Given the description of an element on the screen output the (x, y) to click on. 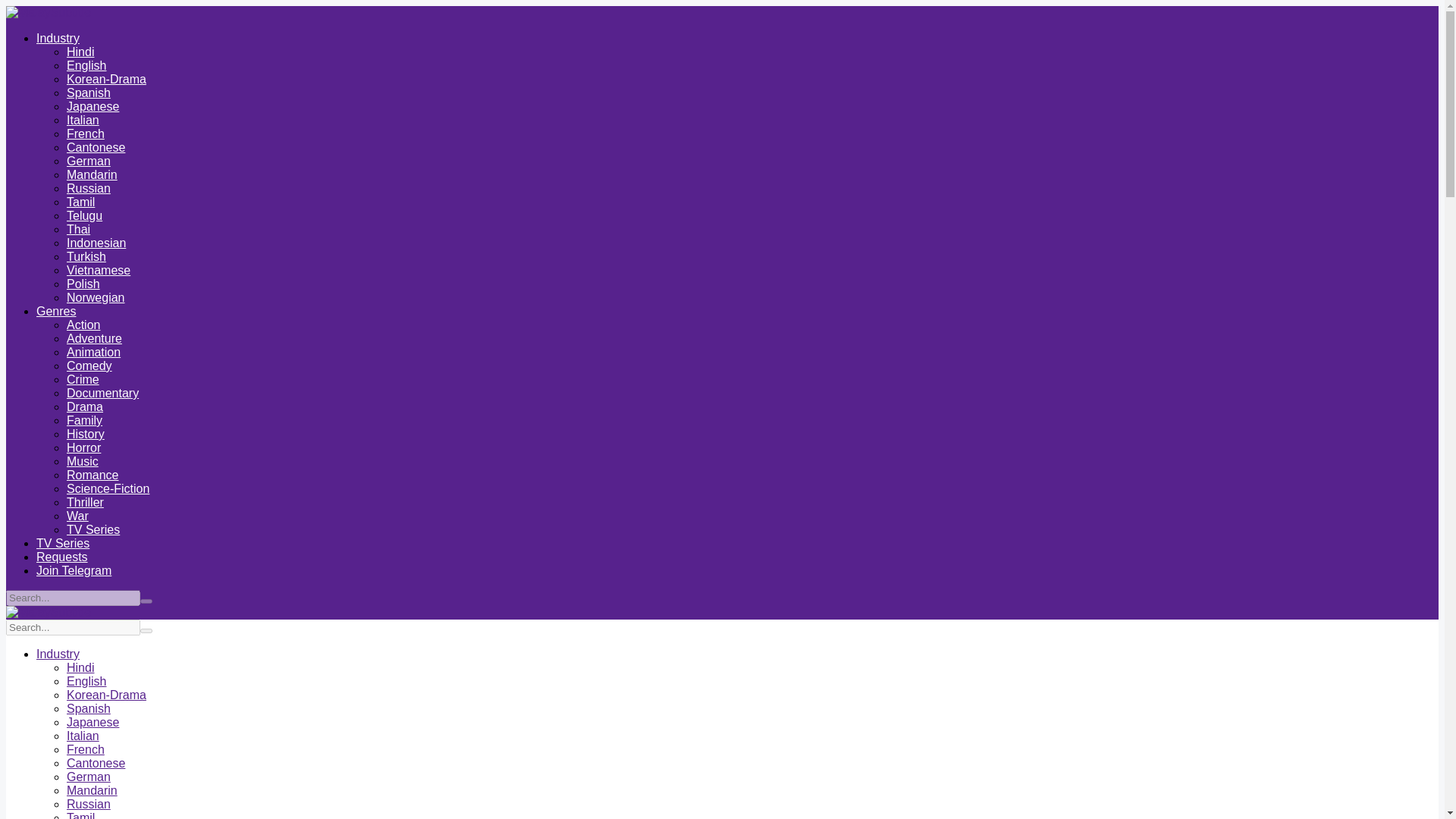
Hindi (80, 51)
Documentary (102, 392)
Spanish (88, 92)
Telugu (83, 215)
English (86, 65)
Adventure (94, 338)
Japanese (92, 106)
Comedy (89, 365)
Music (82, 461)
Thai (78, 228)
